Given the description of an element on the screen output the (x, y) to click on. 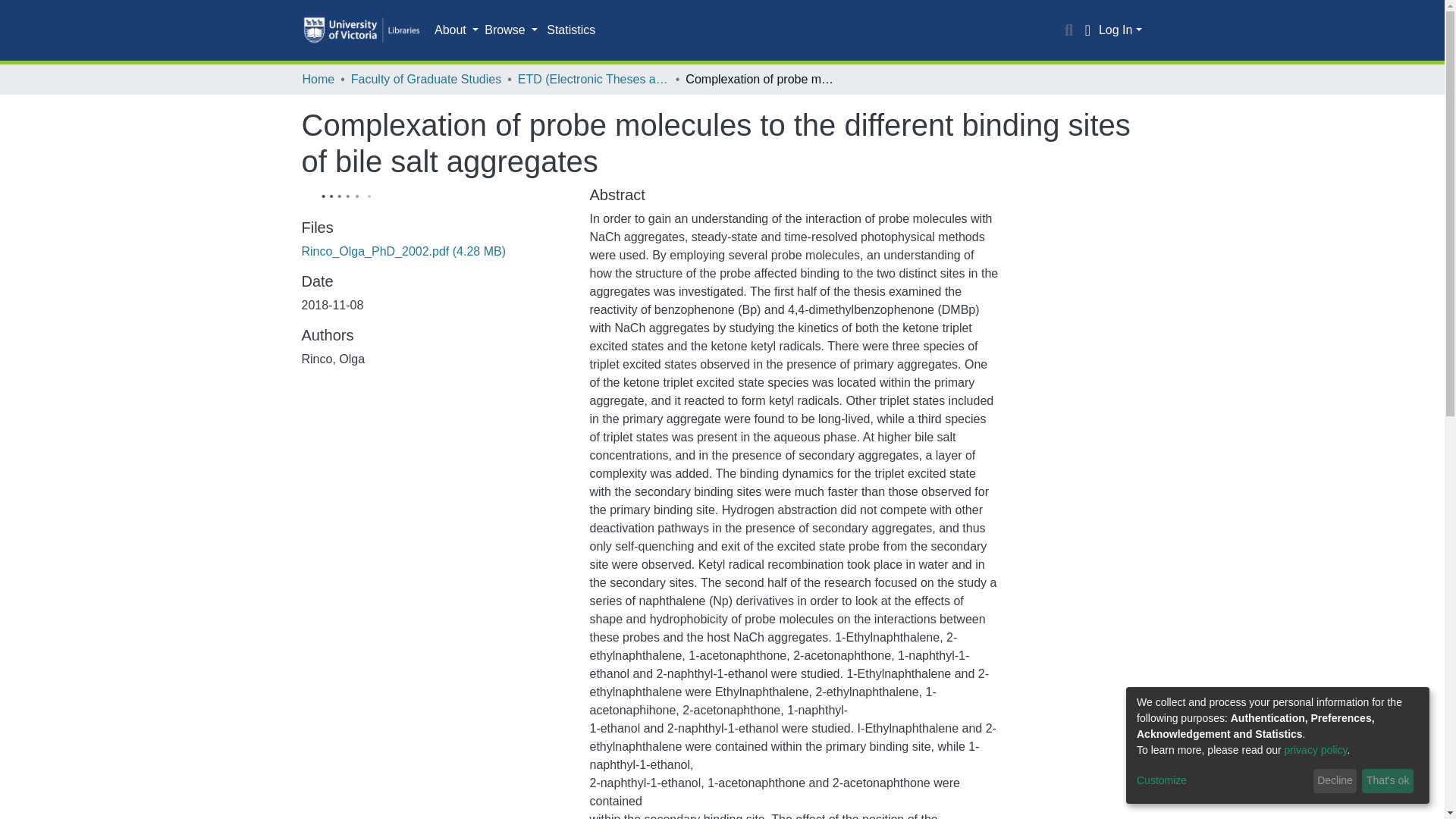
Home (317, 79)
About (455, 30)
Statistics (570, 30)
Language switch (1087, 30)
Faculty of Graduate Studies (425, 79)
Search (1068, 30)
Log In (1119, 29)
Browse (510, 30)
Statistics (570, 30)
